Given the description of an element on the screen output the (x, y) to click on. 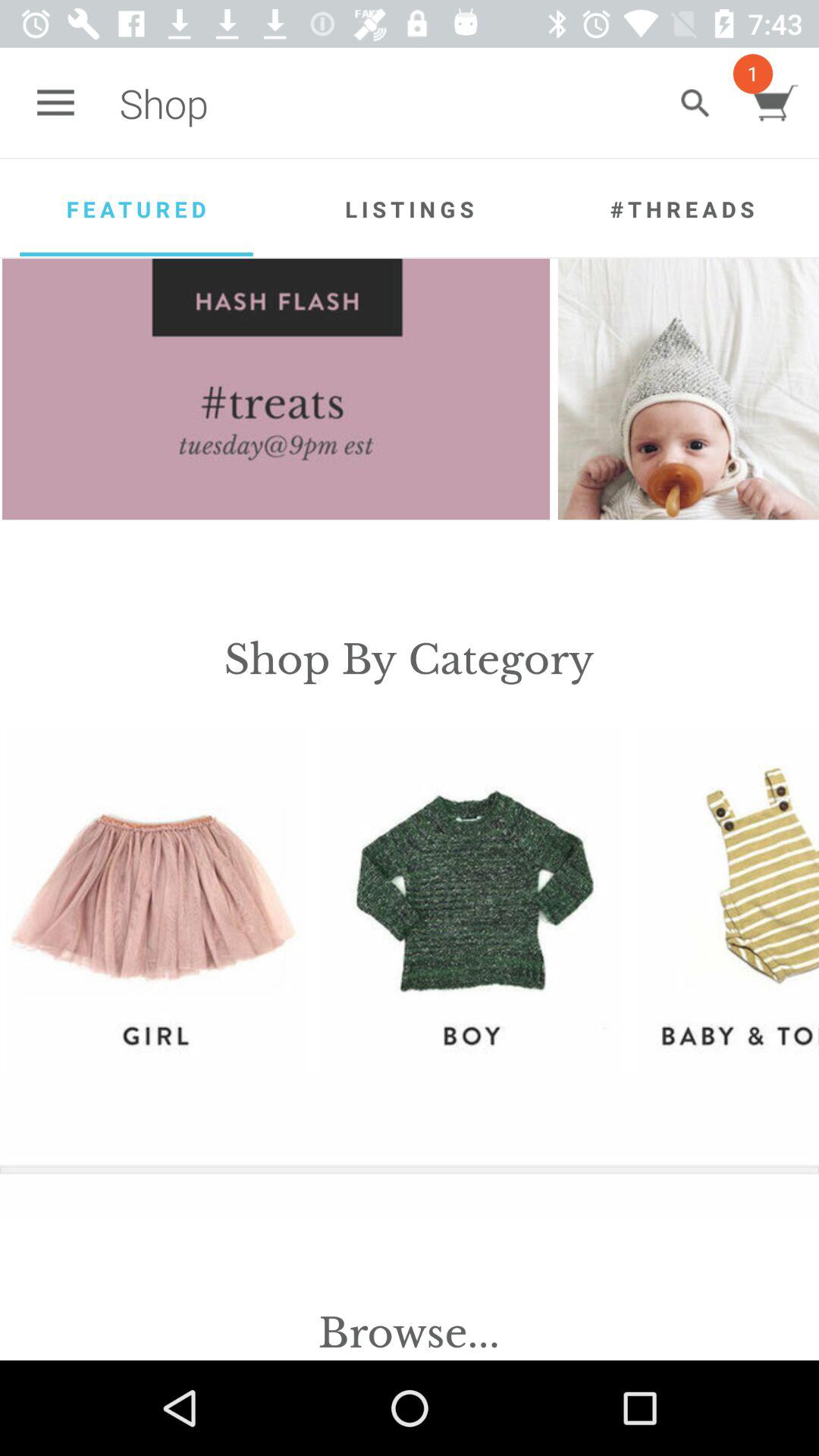
press the icon below the #threads (688, 388)
